Given the description of an element on the screen output the (x, y) to click on. 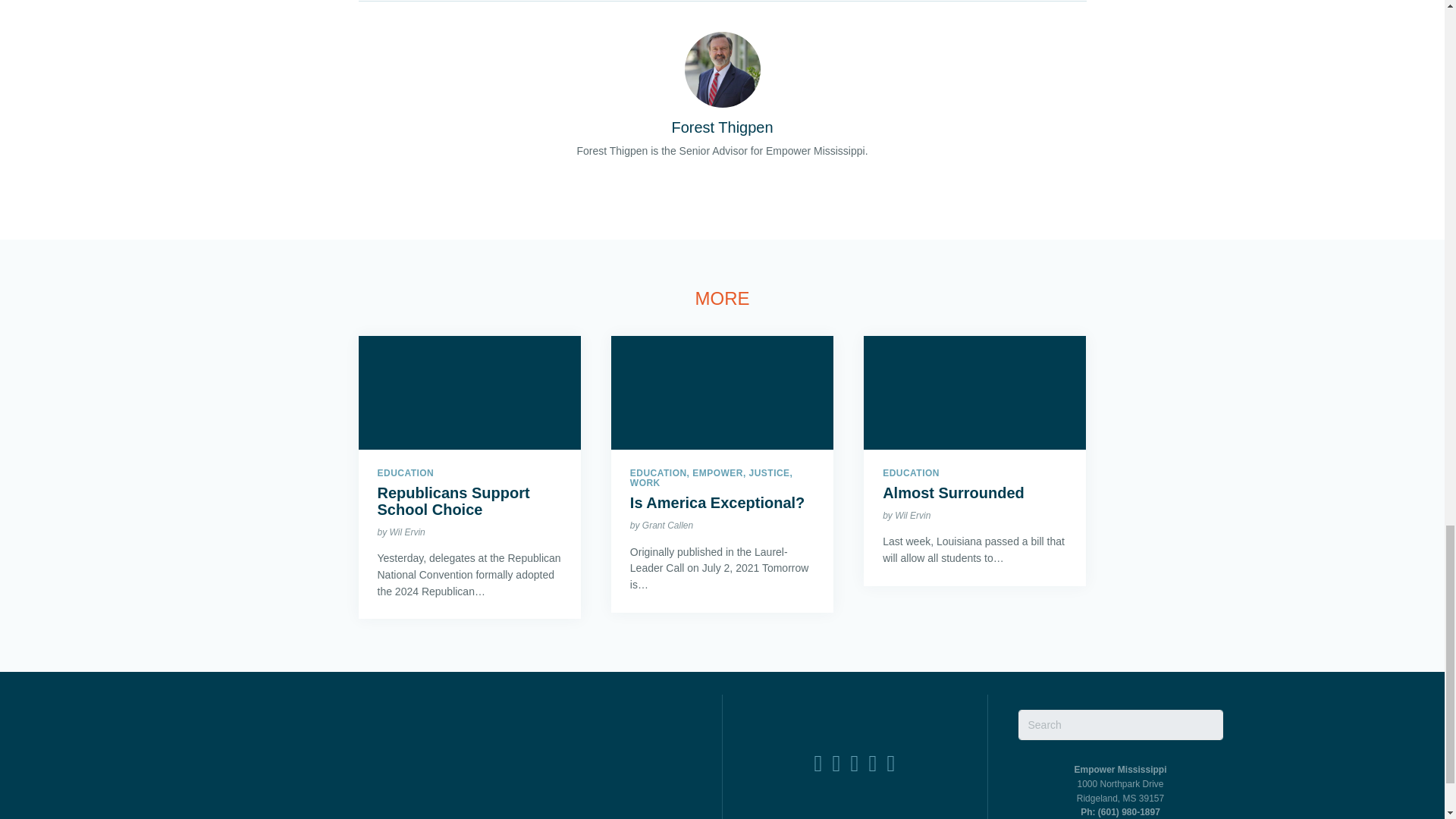
Type and press Enter to search. (1120, 725)
